Given the description of an element on the screen output the (x, y) to click on. 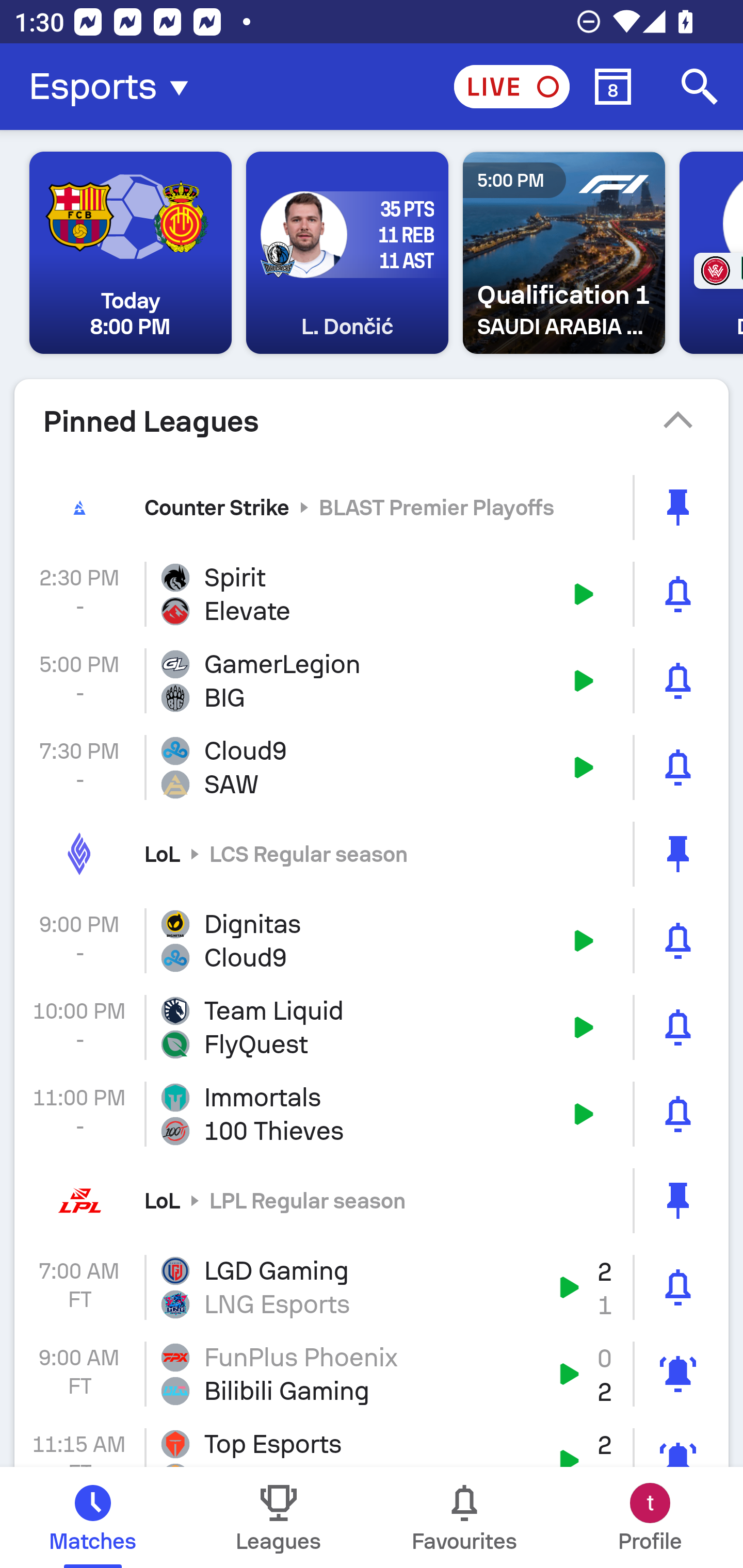
Esports (114, 86)
Calendar (612, 86)
Search (699, 86)
Today
8:00 PM (130, 253)
35 PTS
11 REB
11 AST L. Dončić (346, 253)
Pinned Leagues (371, 421)
Counter Strike BLAST Premier Playoffs (371, 507)
2:30 PM - Spirit Elevate (371, 594)
5:00 PM - GamerLegion BIG (371, 681)
7:30 PM - Cloud9 SAW (371, 767)
LoL LCS Regular season (371, 853)
9:00 PM - Dignitas Cloud9 (371, 940)
10:00 PM - Team Liquid FlyQuest (371, 1027)
11:00 PM - Immortals 100 Thieves (371, 1113)
LoL LPL Regular season (371, 1200)
7:00 AM FT LGD Gaming LNG Esports 2 1 (371, 1287)
9:00 AM FT FunPlus Phoenix Bilibili Gaming 0 2 (371, 1374)
Leagues (278, 1517)
Favourites (464, 1517)
Profile (650, 1517)
